Given the description of an element on the screen output the (x, y) to click on. 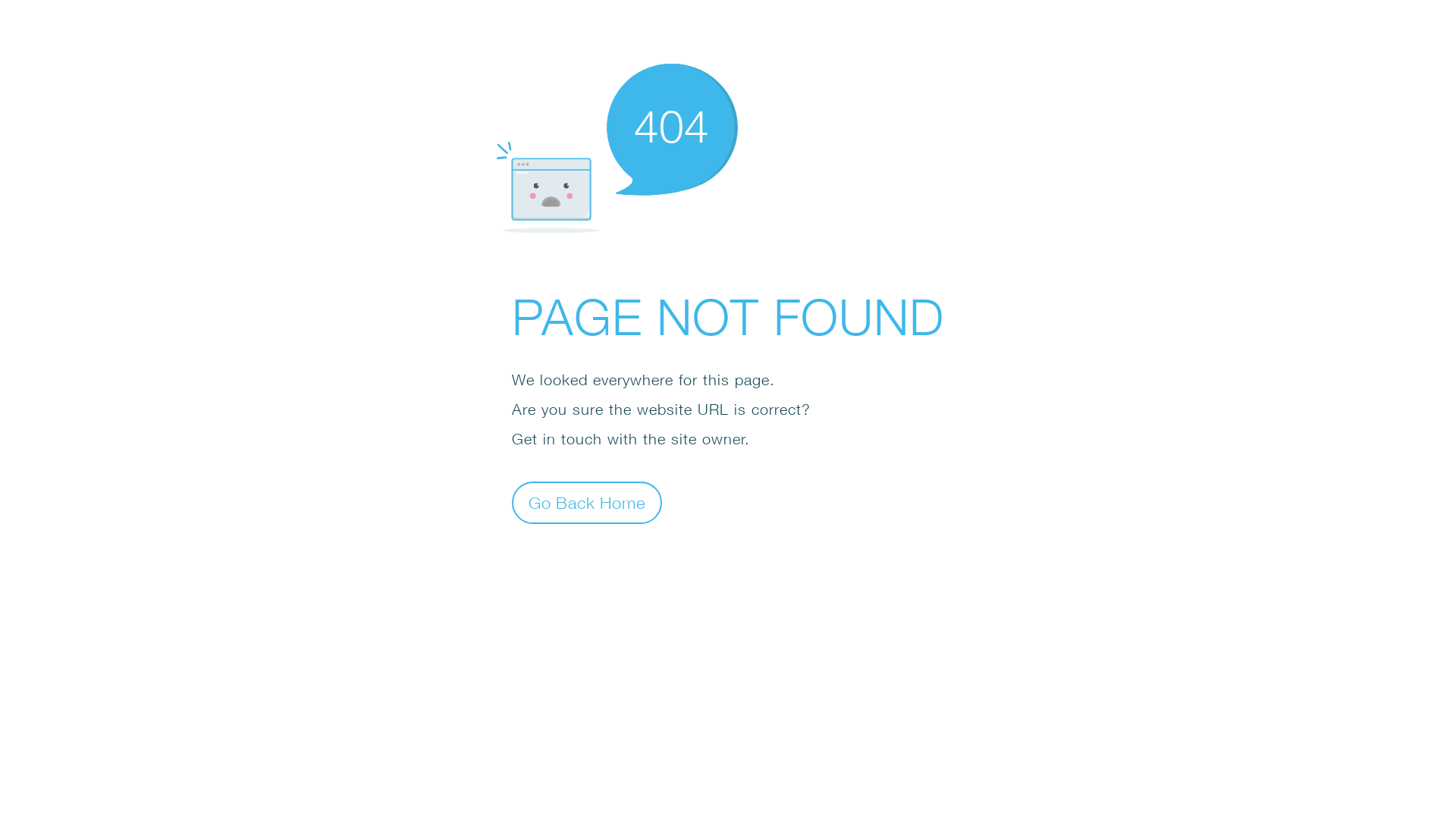
Go Back Home Element type: text (586, 502)
